Given the description of an element on the screen output the (x, y) to click on. 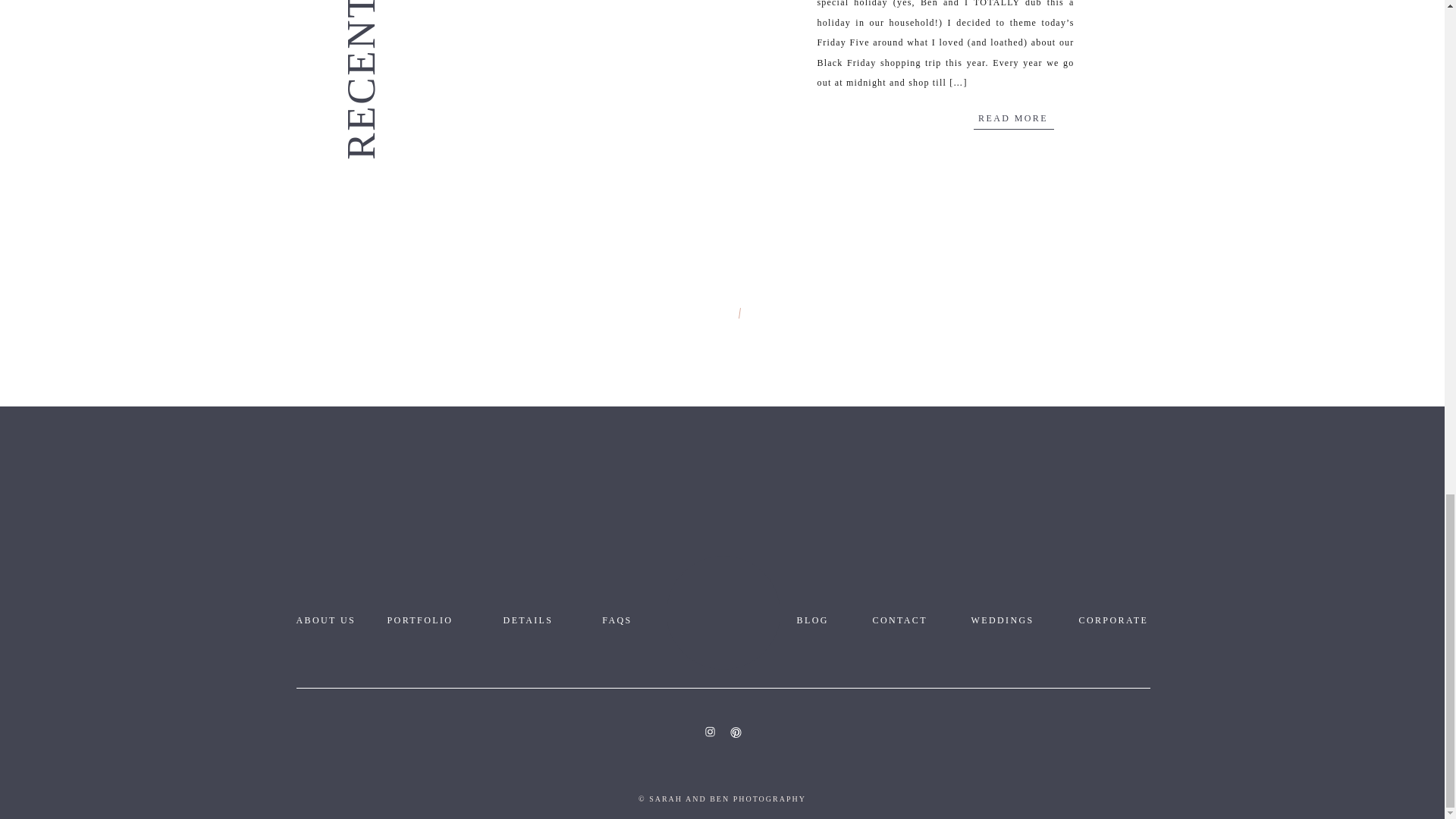
DETAILS (528, 619)
WEDDINGS (1009, 619)
FAQS (616, 619)
READ MORE (1013, 117)
CONTACT (904, 619)
PORTFOLIO (433, 619)
ABOUT US (330, 619)
CORPORATE (1117, 619)
BLOG (822, 619)
